Given the description of an element on the screen output the (x, y) to click on. 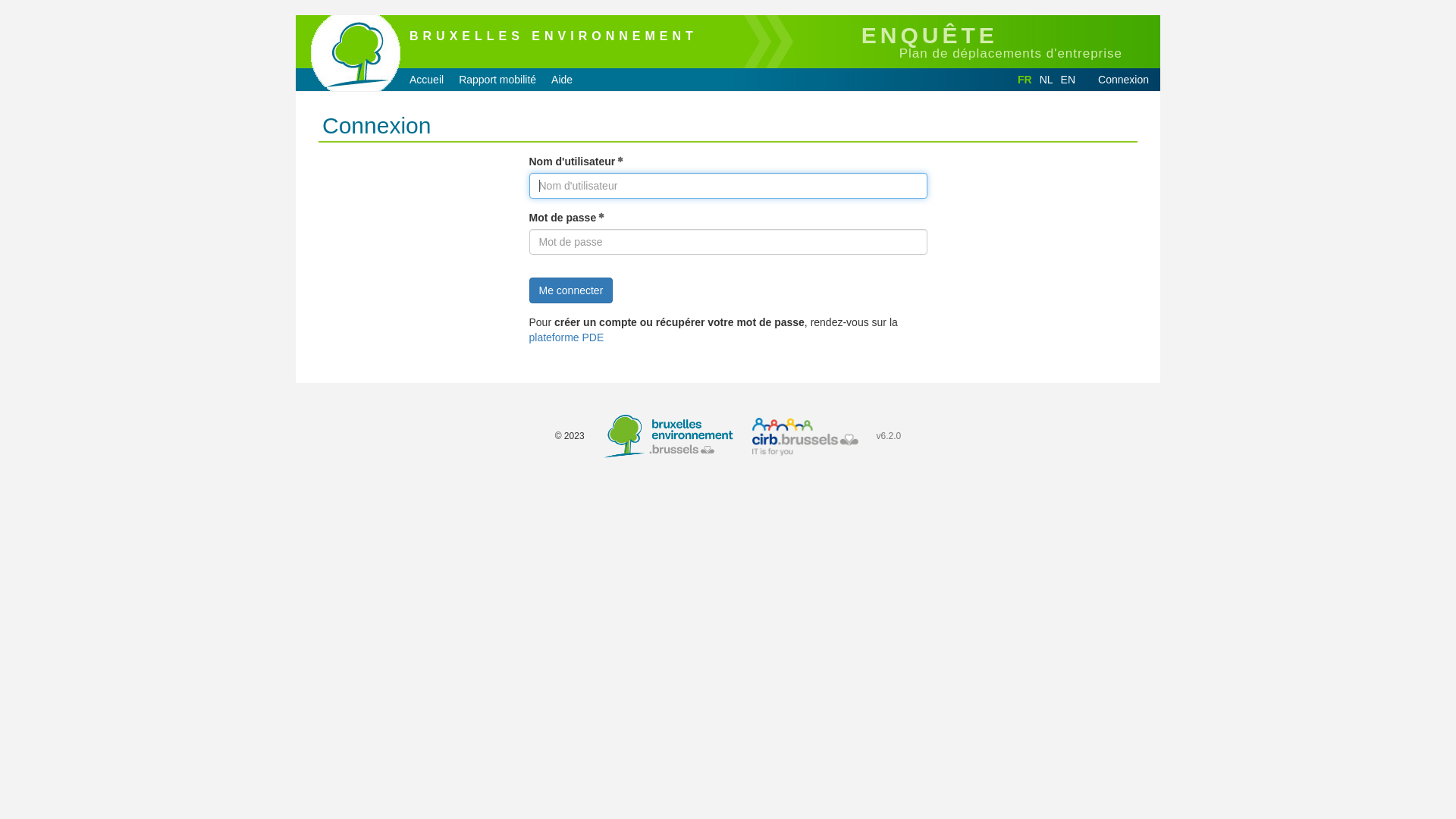
FR Element type: text (1024, 79)
EN Element type: text (1068, 79)
CIRB Element type: hover (805, 436)
Connexion Element type: text (1123, 79)
Me connecter Element type: text (571, 290)
NL Element type: text (1046, 79)
Bruxelles Environnement Element type: hover (668, 436)
Accueil Element type: text (426, 79)
plateforme PDE Element type: text (566, 337)
Aide Element type: text (561, 79)
